Given the description of an element on the screen output the (x, y) to click on. 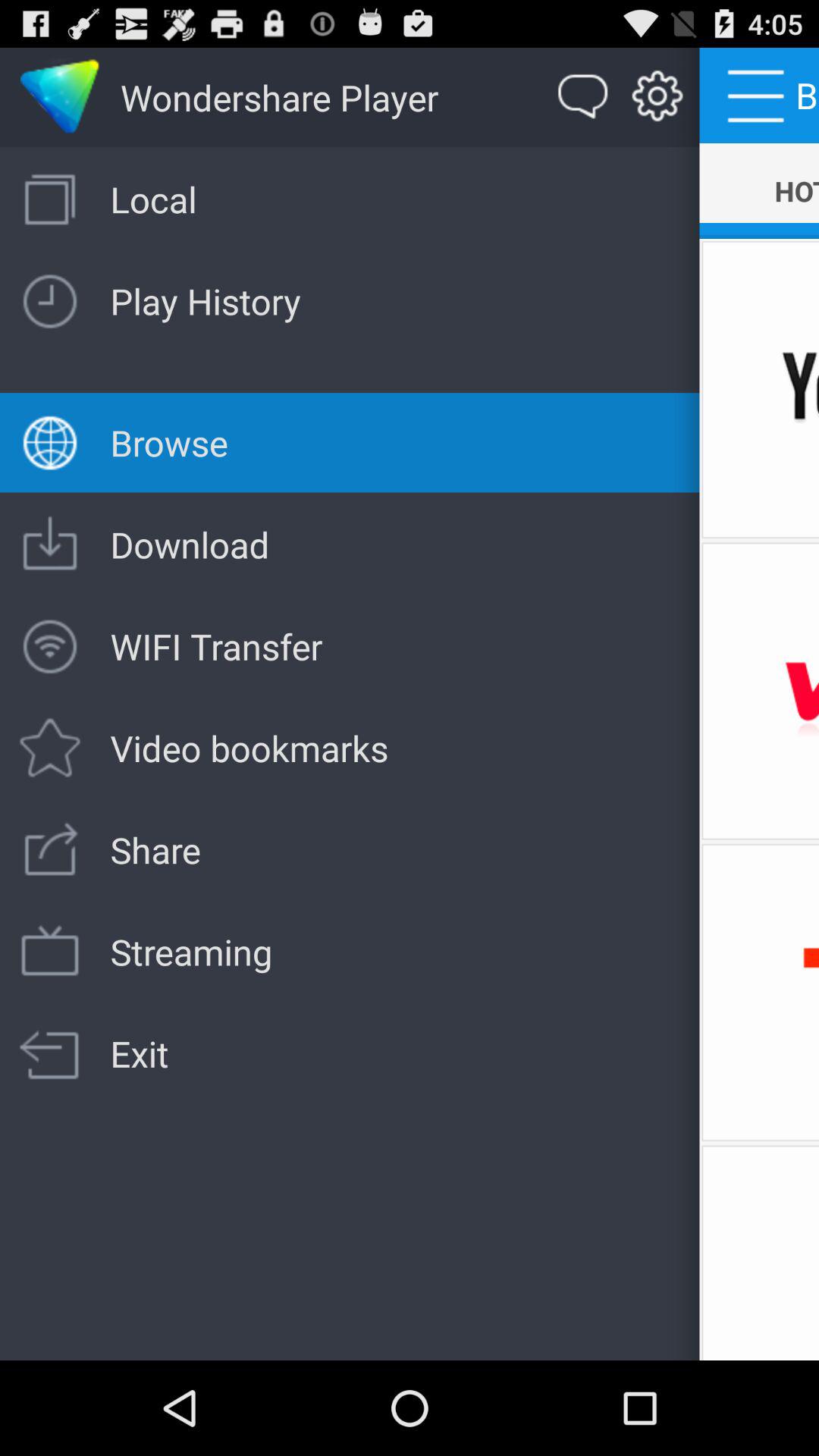
select the item above the local icon (583, 97)
